Given the description of an element on the screen output the (x, y) to click on. 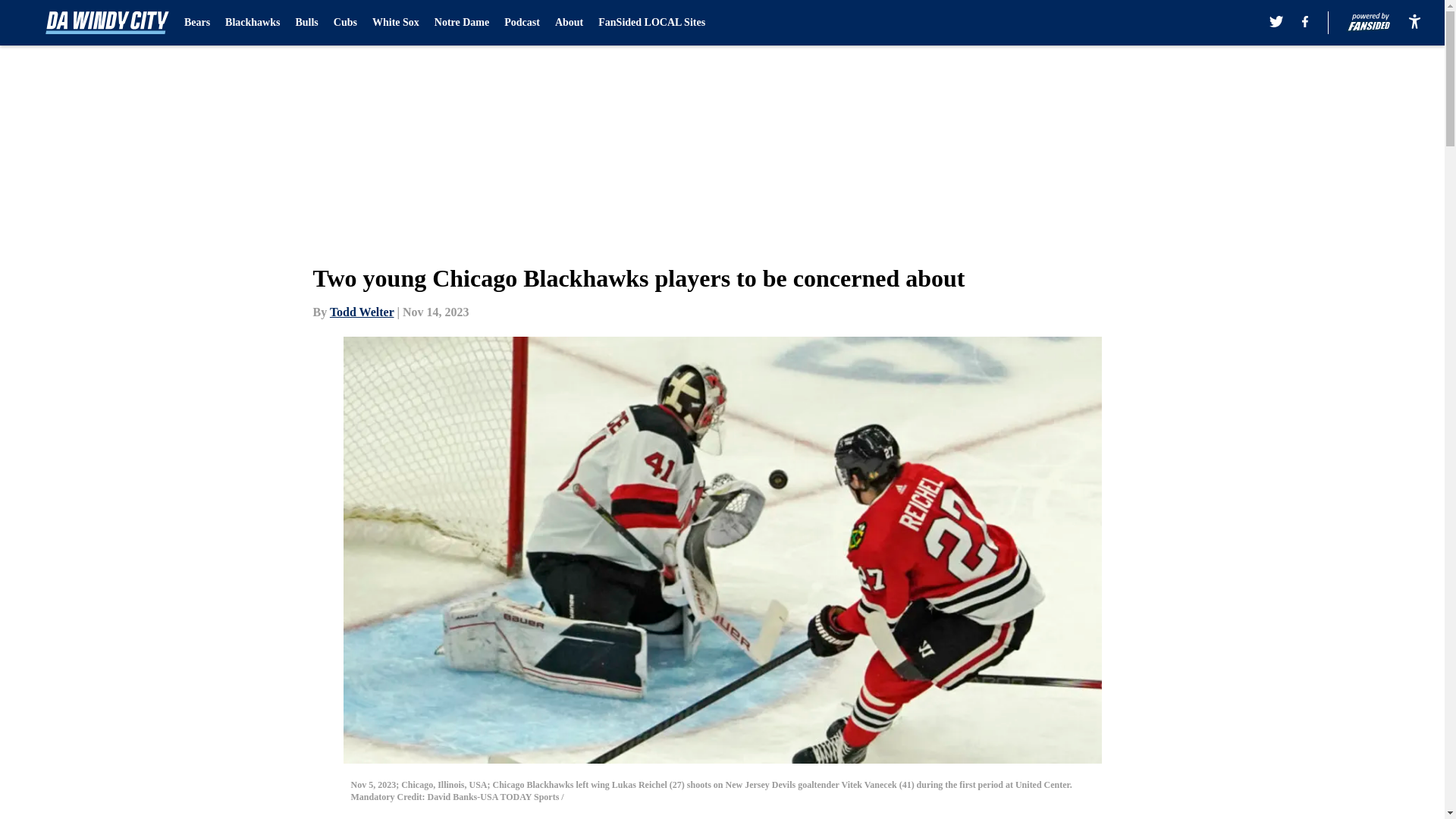
About (568, 22)
Blackhawks (252, 22)
White Sox (395, 22)
Todd Welter (362, 311)
Notre Dame (461, 22)
Podcast (521, 22)
Bears (196, 22)
Bulls (306, 22)
FanSided LOCAL Sites (651, 22)
Cubs (344, 22)
